Given the description of an element on the screen output the (x, y) to click on. 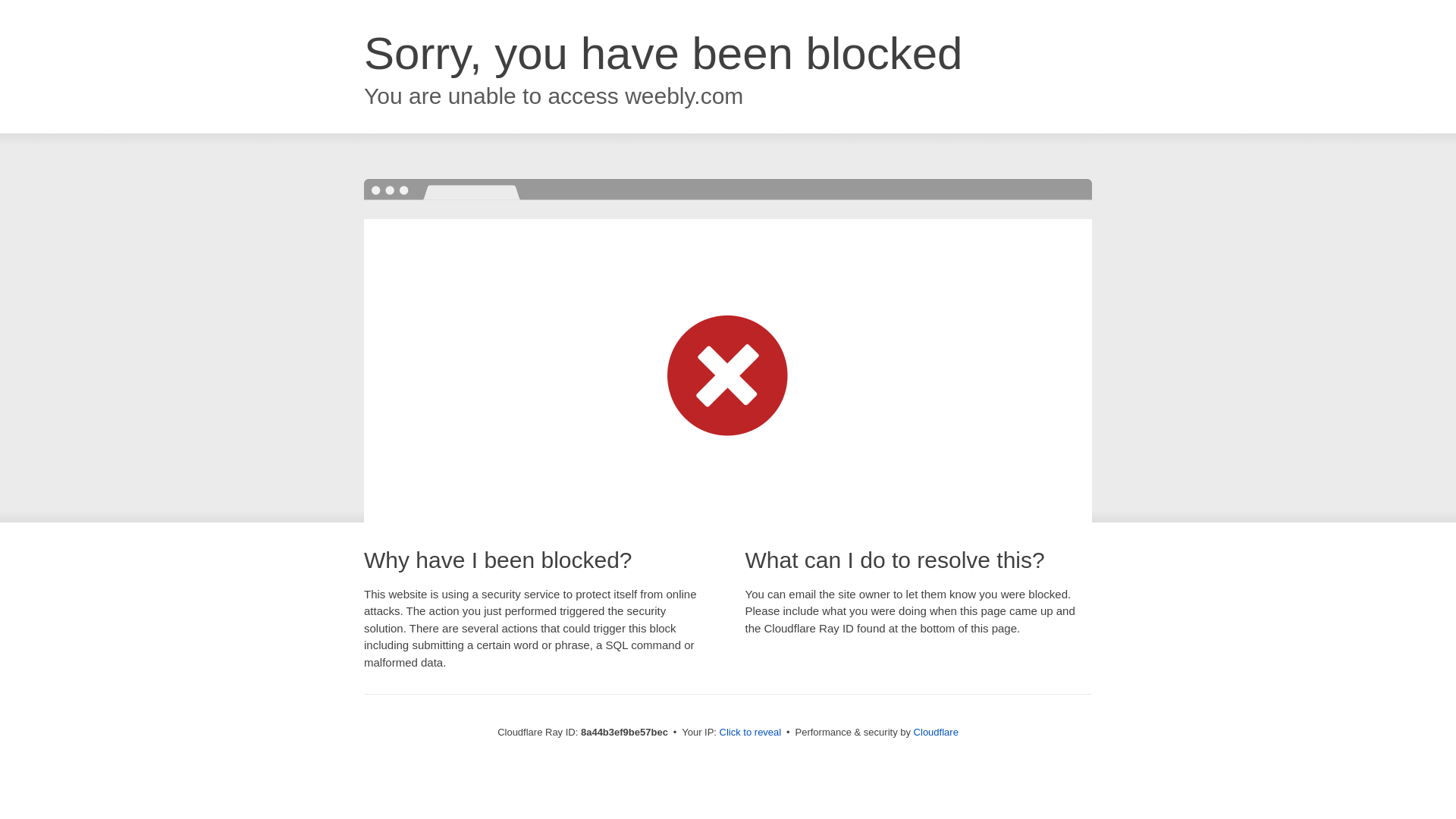
Cloudflare (936, 731)
Click to reveal (750, 732)
